Given the description of an element on the screen output the (x, y) to click on. 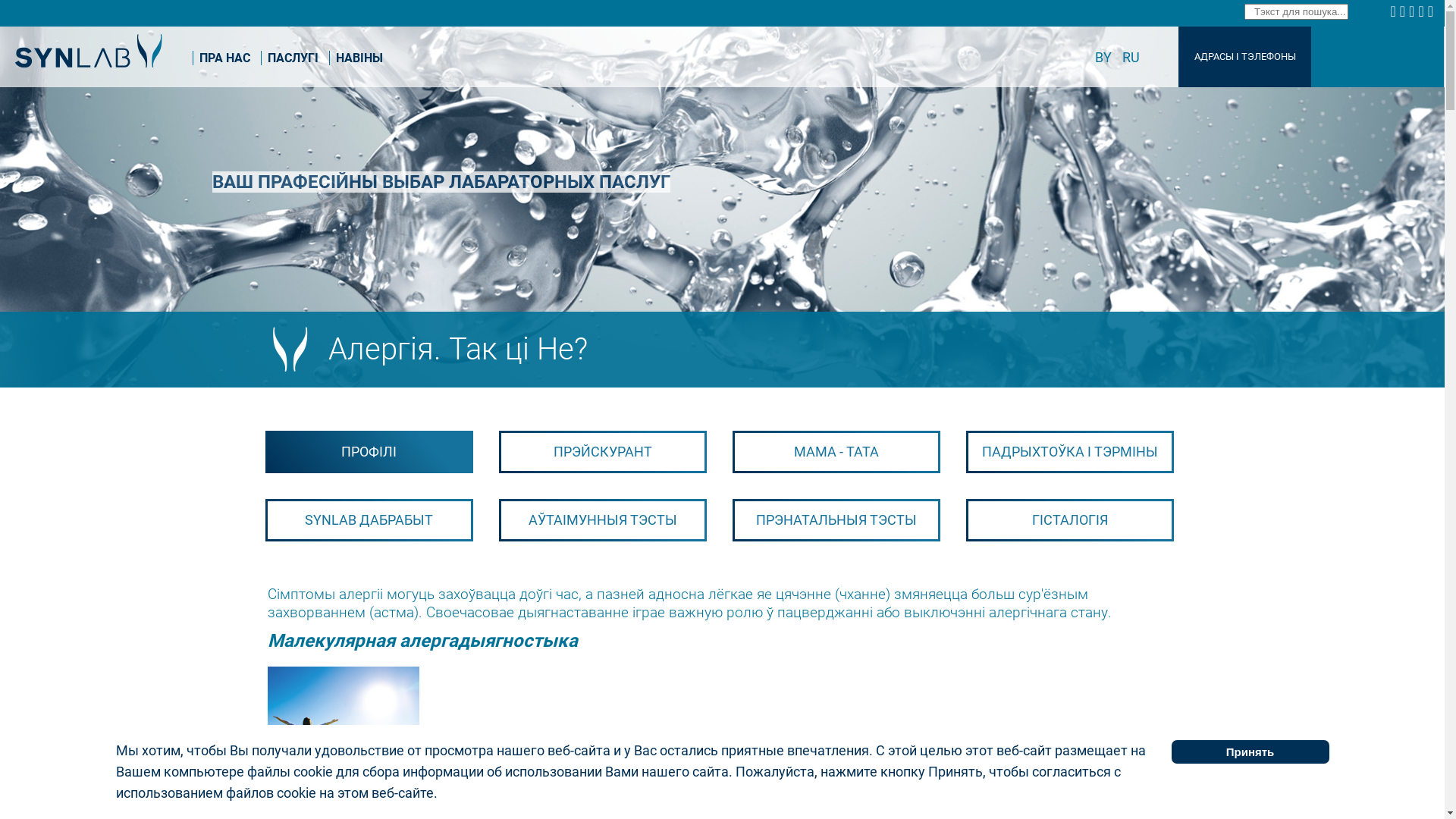
Facebook Element type: text (1394, 10)
BY Element type: text (1104, 57)
VK Element type: text (1403, 10)
OK Element type: text (1422, 10)
RU Element type: text (1130, 57)
Instagram Element type: text (1413, 10)
YouTube Element type: text (1432, 10)
